Given the description of an element on the screen output the (x, y) to click on. 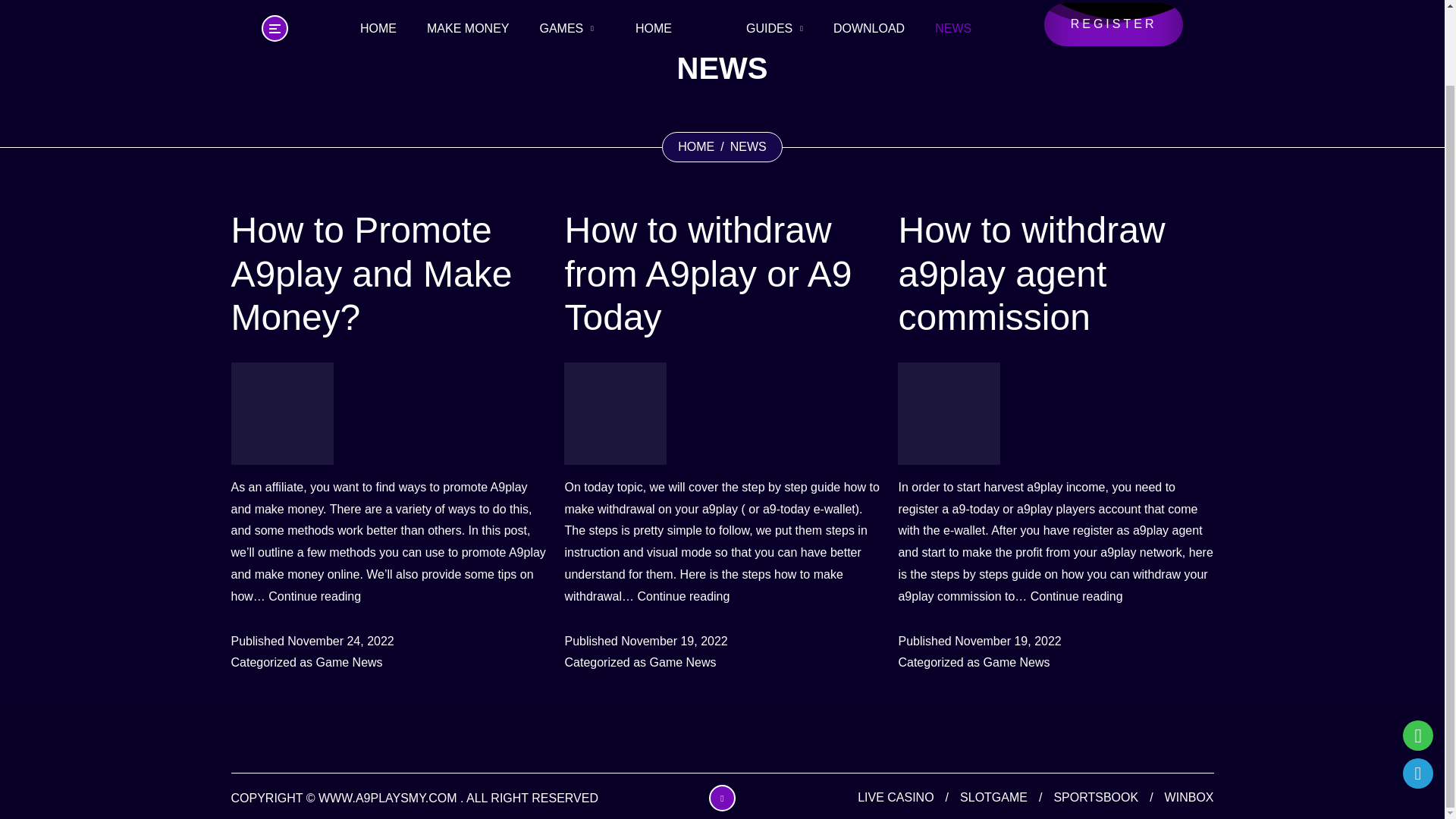
How to withdraw from A9play or A9 Today (1076, 597)
HOME (721, 273)
Game News (696, 147)
Game News (682, 662)
How to Promote A9play and Make Money? (348, 662)
WWW.A9PLAYSMY.COM (388, 273)
Game News (314, 597)
How to withdraw a9play agent commission (387, 798)
